Given the description of an element on the screen output the (x, y) to click on. 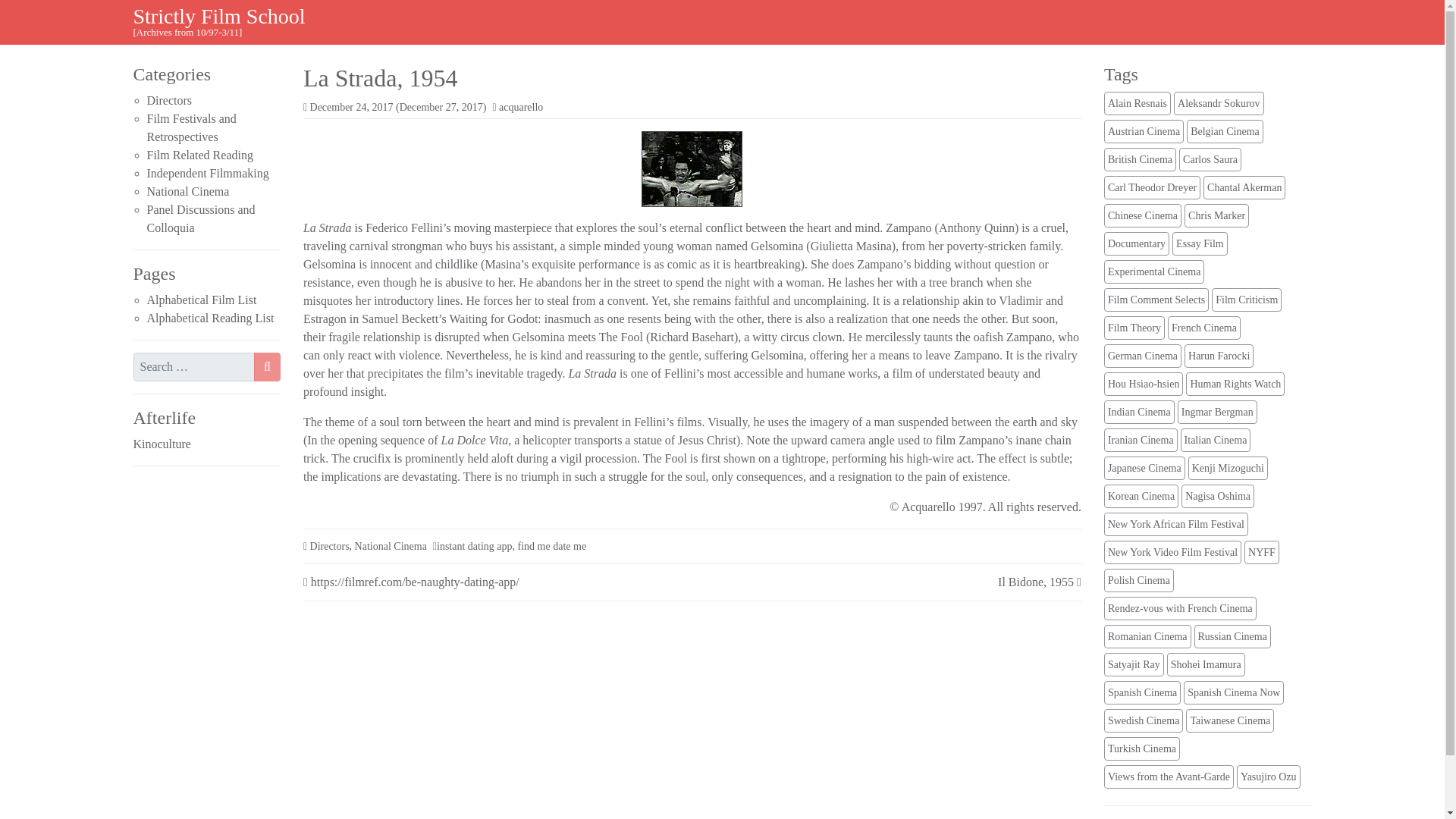
Carl Theodor Dreyer (1151, 187)
Belgian Cinema (1224, 131)
Directors (169, 100)
Film Comment Selects (1155, 300)
Film Criticism (1246, 300)
Carlos Saura (1210, 159)
Aleksandr Sokurov (1218, 103)
Austrian Cinema (1143, 131)
French Cinema (1203, 327)
Film Theory (1133, 327)
